Given the description of an element on the screen output the (x, y) to click on. 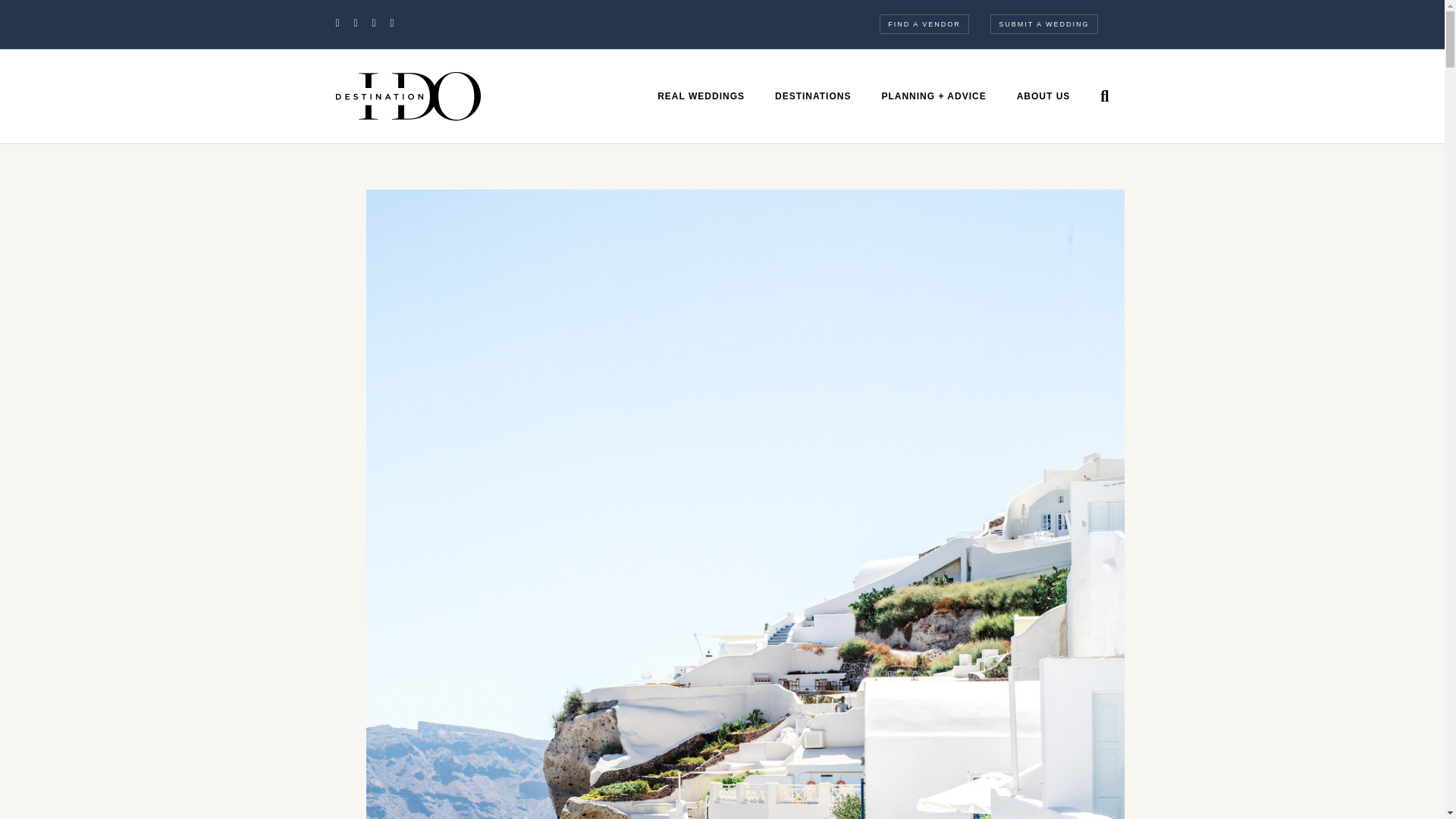
ABOUT US (1043, 96)
FIND A VENDOR (924, 24)
Twitter (362, 22)
DESTINATIONS (813, 96)
SUBMIT A WEDDING (1043, 24)
Instagram (398, 22)
Pinterest (380, 22)
REAL WEDDINGS (701, 96)
Facebook (343, 22)
